Given the description of an element on the screen output the (x, y) to click on. 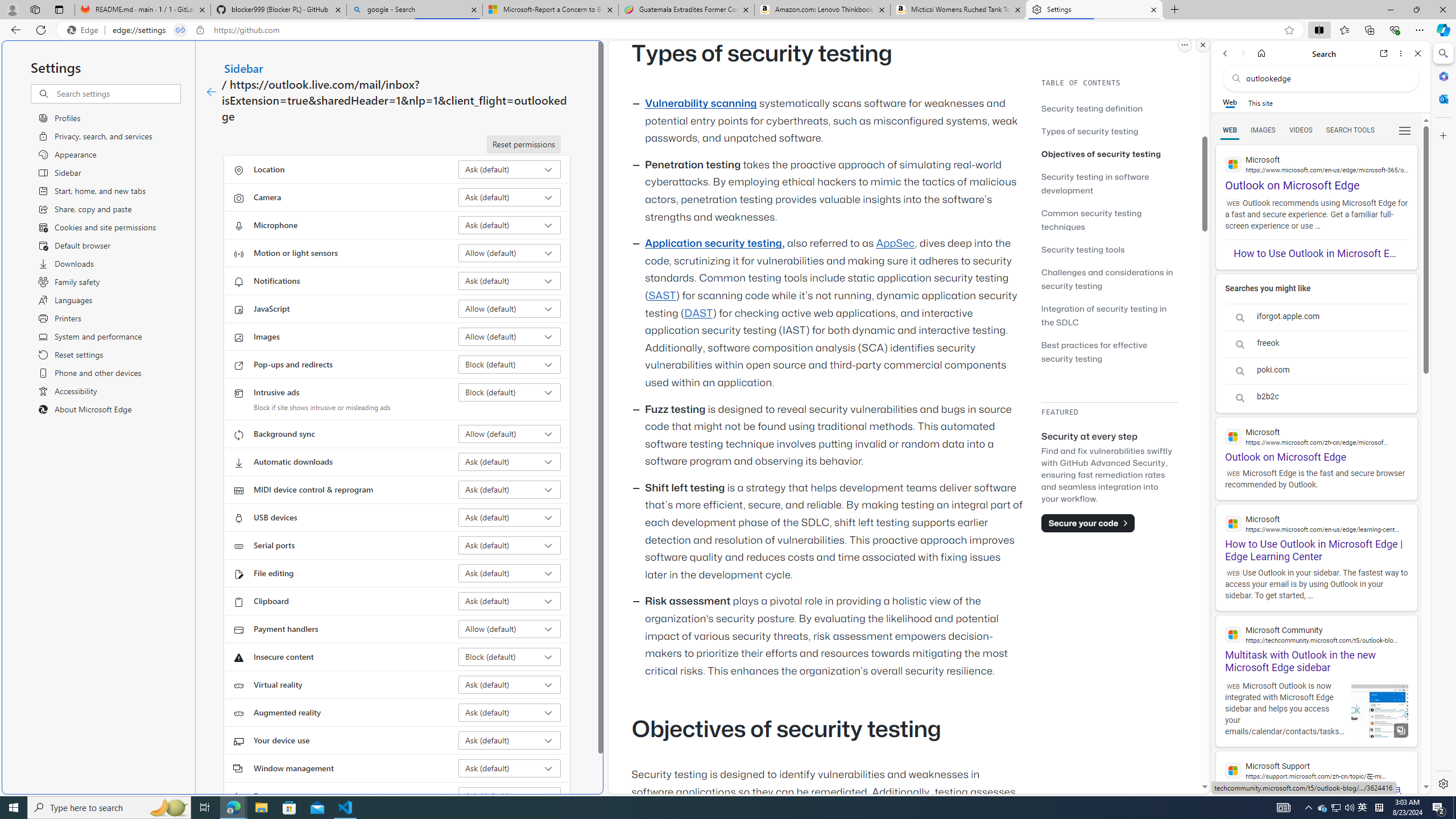
Virtual reality Ask (default) (509, 684)
Intrusive ads Block (default) (509, 392)
Location Ask (default) (509, 169)
How to Use Outlook in Microsoft Edge | Edge Learning Center (1315, 533)
Best practices for effective security testing (1094, 351)
Application security testing (713, 243)
Types of security testing (1089, 130)
Security testing definition (1109, 108)
